Given the description of an element on the screen output the (x, y) to click on. 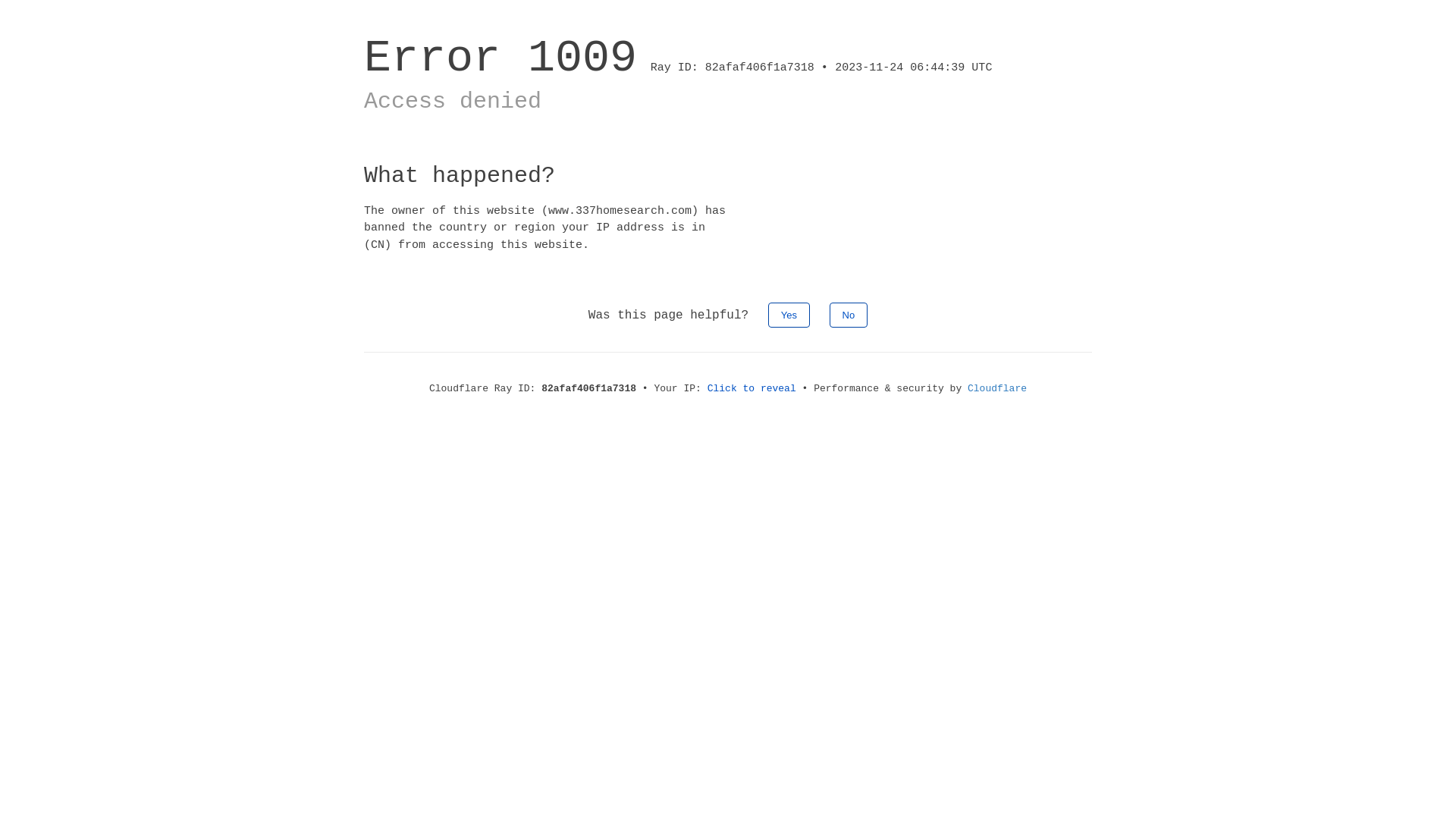
No Element type: text (848, 314)
Yes Element type: text (788, 314)
Cloudflare Element type: text (996, 388)
Click to reveal Element type: text (751, 388)
